Given the description of an element on the screen output the (x, y) to click on. 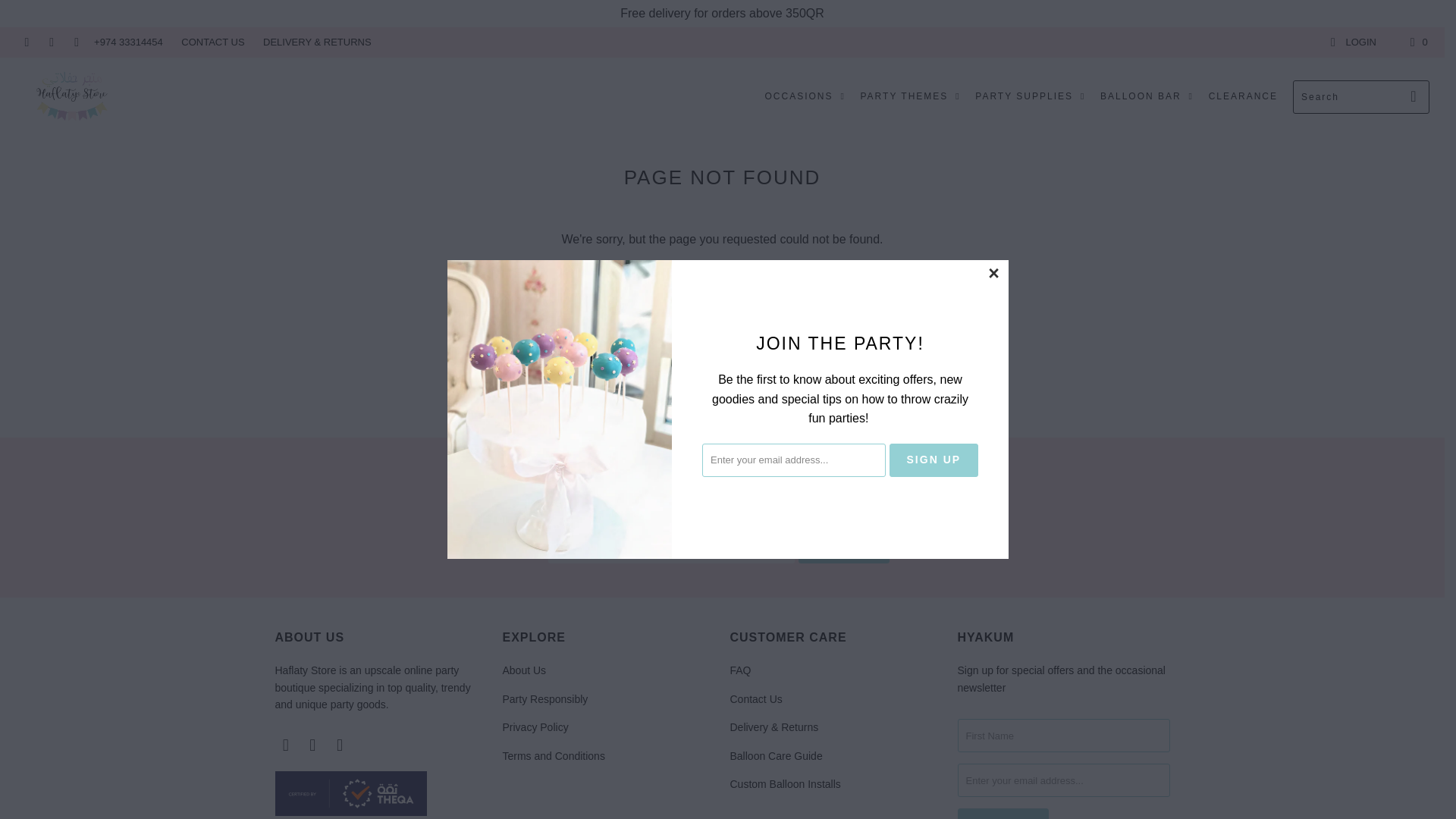
Free delivery for orders above 350QR (722, 12)
Haflaty Store (71, 97)
Haflaty Store on Instagram (50, 41)
Haflaty Store on Instagram (312, 745)
Haflaty Store on Facebook (25, 41)
My Account  (1352, 42)
Email Haflaty Store (75, 41)
Email Haflaty Store (340, 745)
Sign Up (933, 459)
Haflaty Store on Facebook (286, 745)
Sign Up (842, 546)
Sign Up (1002, 813)
